Given the description of an element on the screen output the (x, y) to click on. 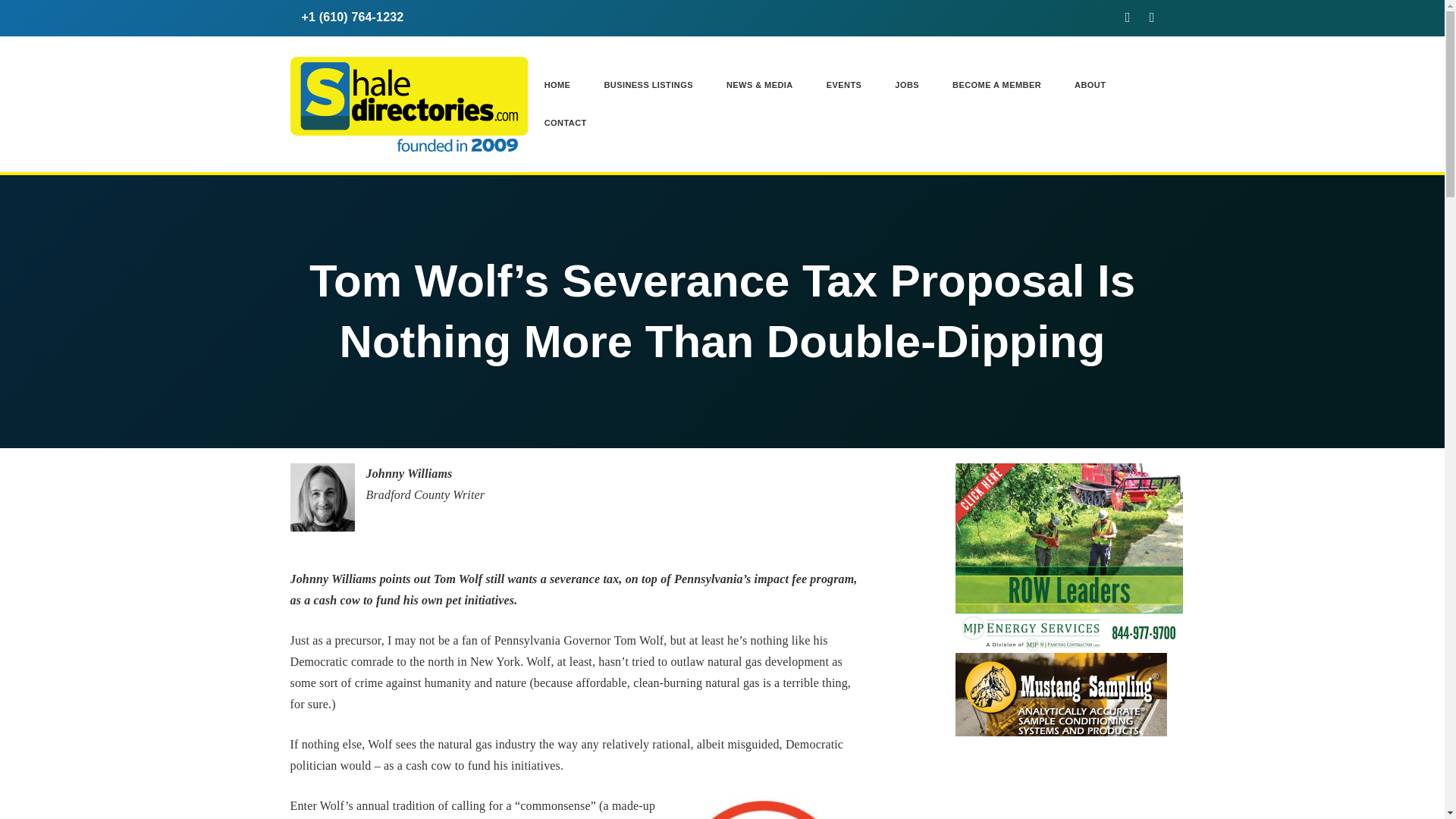
BUSINESS LISTINGS (648, 85)
EVENTS (844, 85)
JOBS (906, 85)
CONTACT (556, 122)
BECOME A MEMBER (997, 85)
ABOUT (1090, 85)
Shale Directories (408, 102)
HOME (557, 85)
